Given the description of an element on the screen output the (x, y) to click on. 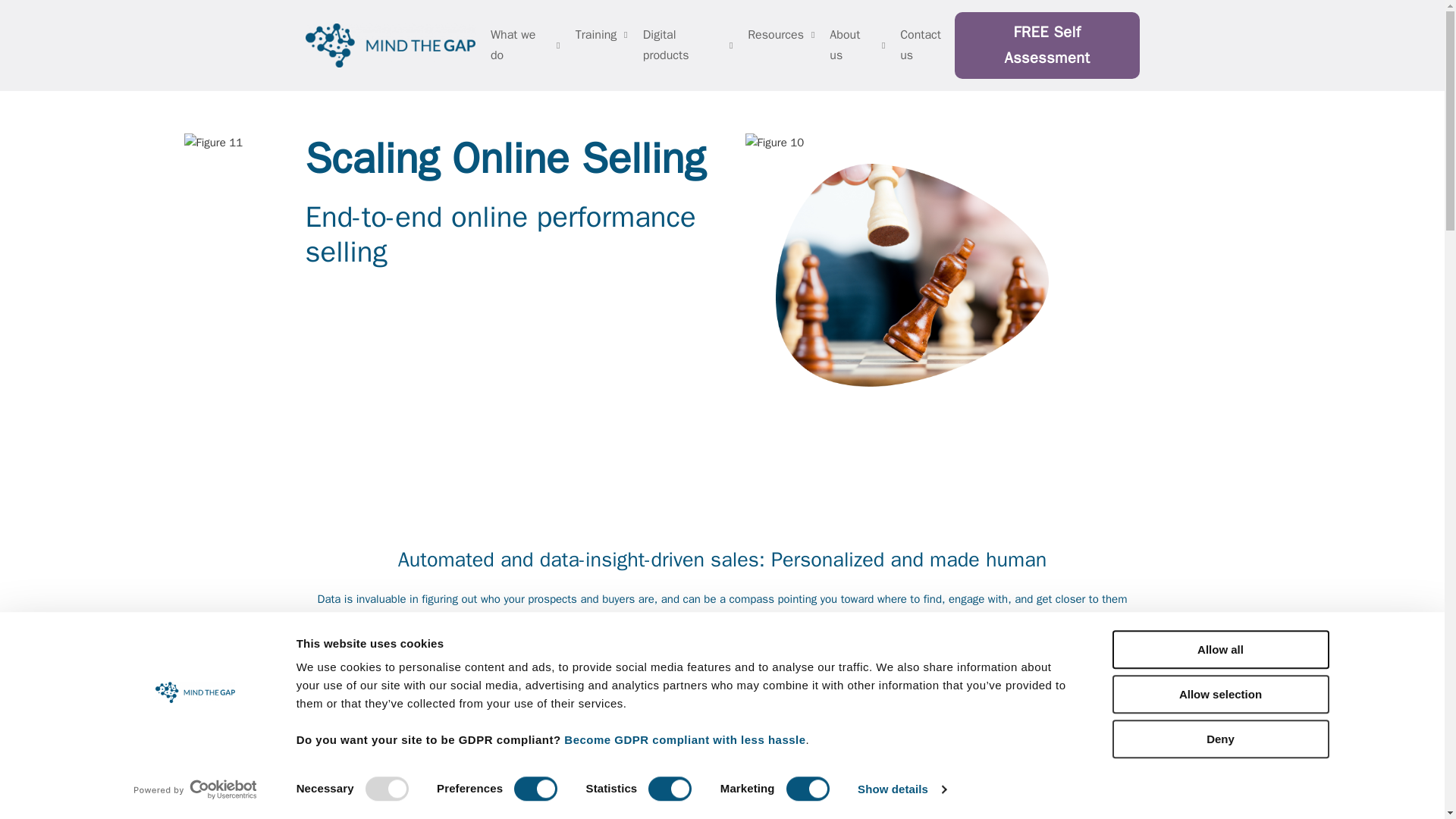
Become GDPR compliant with less hassle (684, 739)
Show details (900, 789)
Allow selection (1219, 693)
Deny (1219, 738)
Allow all (1219, 649)
